Given the description of an element on the screen output the (x, y) to click on. 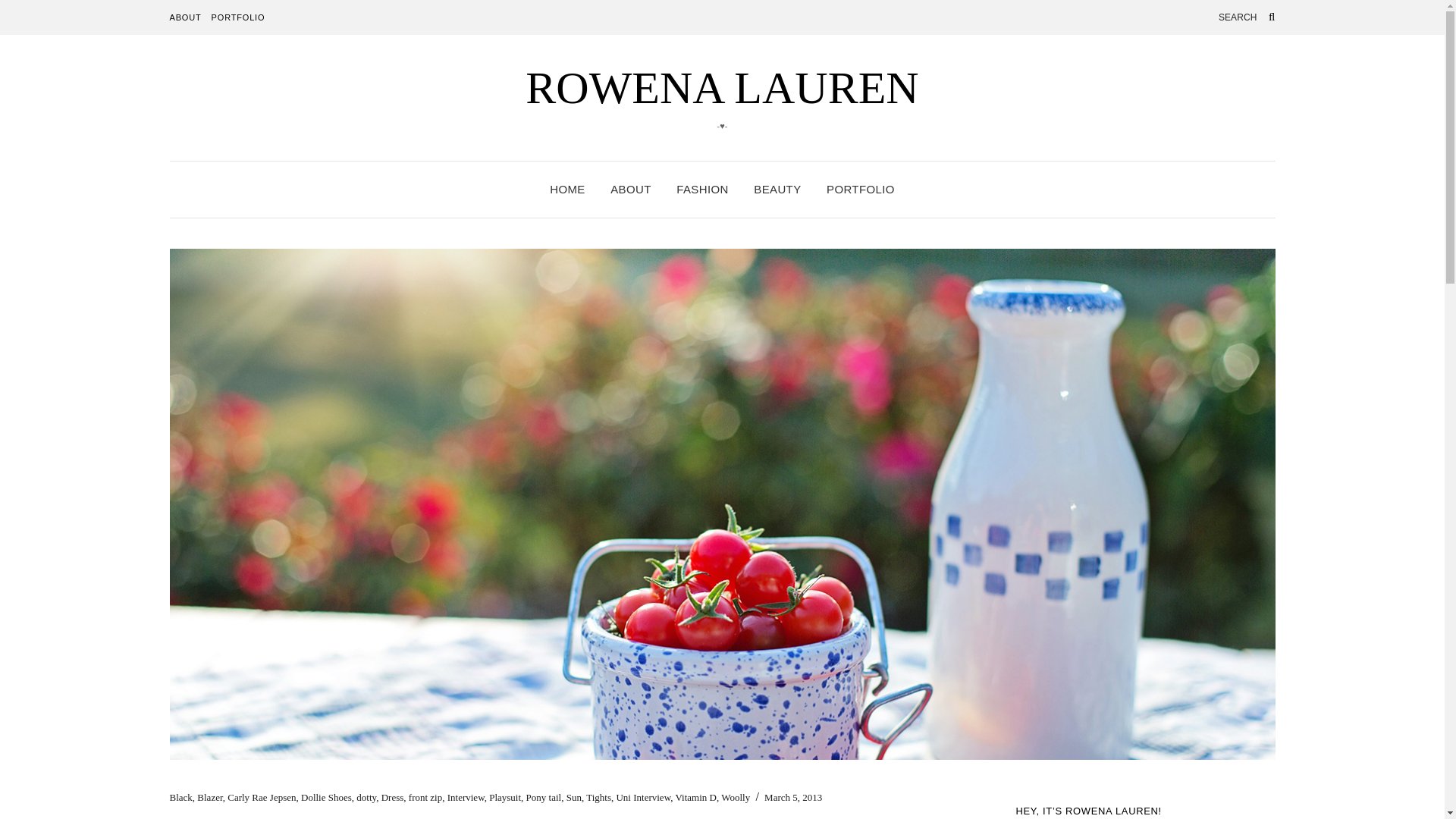
Uni Interview (642, 797)
Interview (465, 797)
Carly Rae Jepsen (261, 797)
Woolly (734, 797)
Sun (573, 797)
dotty (365, 797)
Pony tail (543, 797)
Dress (392, 797)
ABOUT (186, 17)
Vitamin D (695, 797)
Dollie Shoes (326, 797)
FASHION (702, 189)
front zip (425, 797)
Blazer (209, 797)
Tights (598, 797)
